Given the description of an element on the screen output the (x, y) to click on. 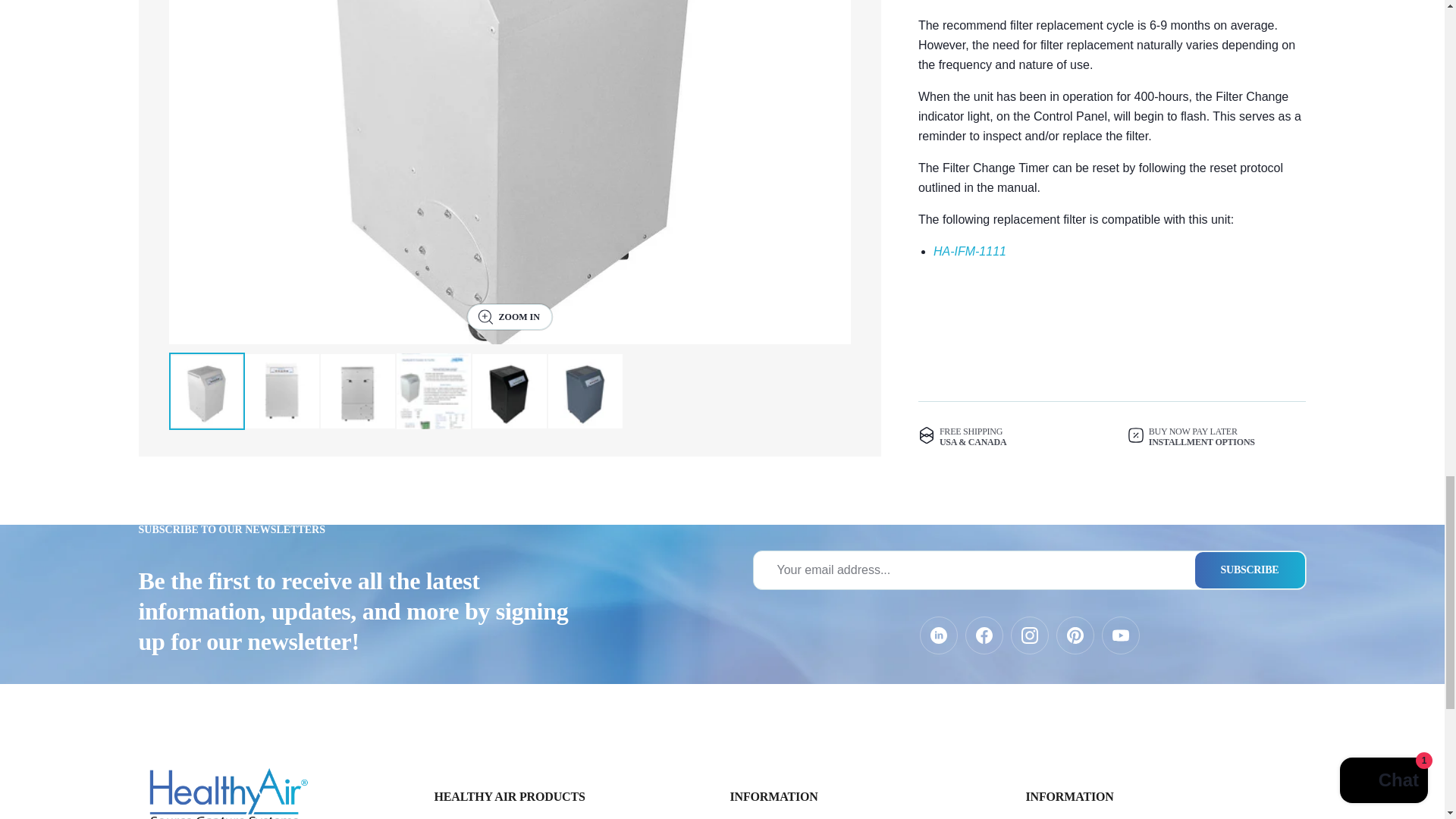
YouTube (1119, 635)
LinkedIn (937, 635)
Pinterest (1074, 635)
HA-IFM-1111 (969, 250)
Facebook (983, 635)
Instagram (1029, 635)
